Given the description of an element on the screen output the (x, y) to click on. 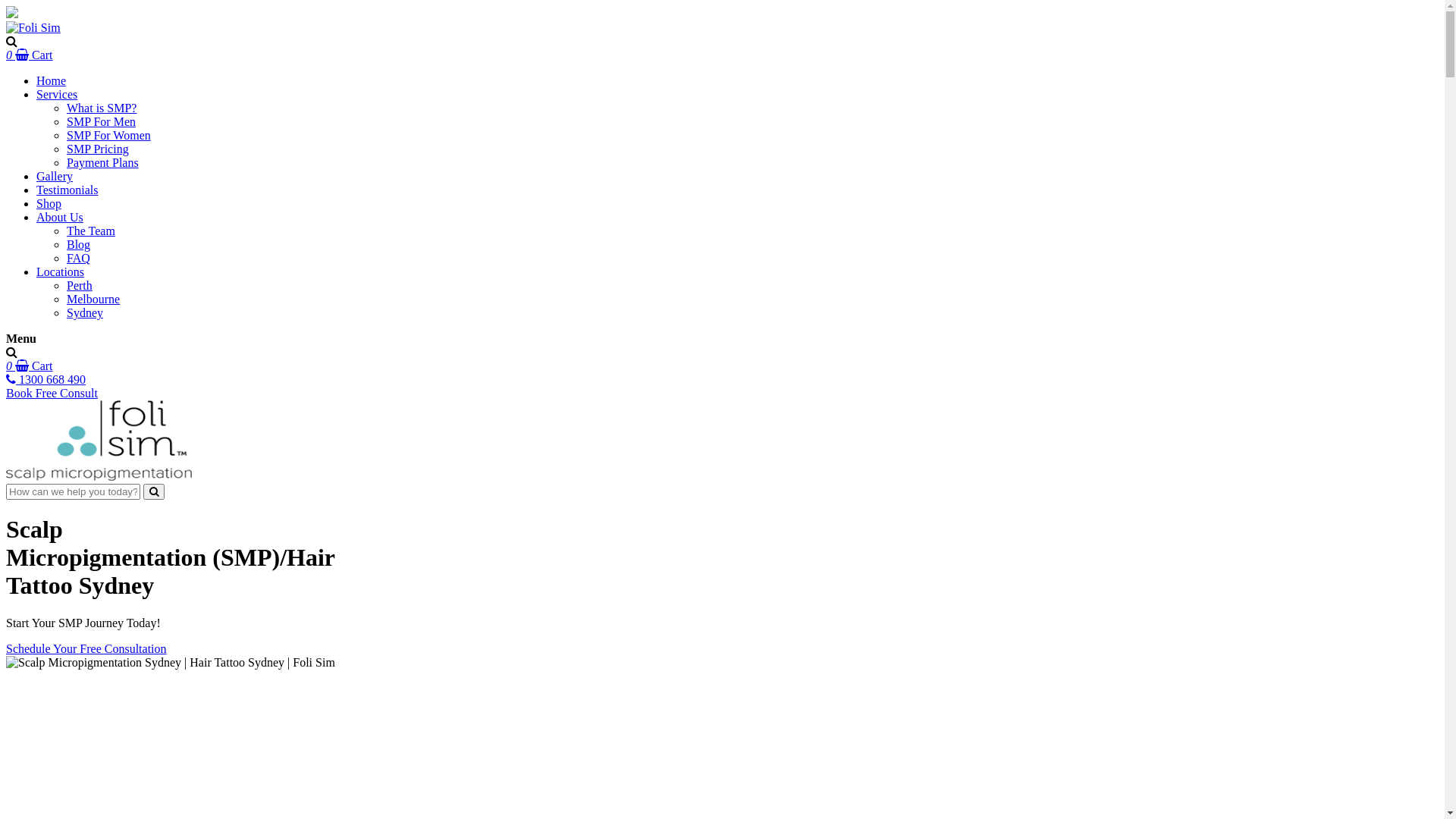
SMP For Men Element type: text (100, 121)
The Team Element type: text (90, 230)
Payment Plans Element type: text (102, 162)
About Us Element type: text (59, 216)
Schedule Your Free Consultation Element type: text (86, 648)
Perth Element type: text (79, 285)
Locations Element type: text (60, 271)
Testimonials Element type: text (67, 189)
Gallery Element type: text (54, 175)
Melbourne Element type: text (92, 298)
Sydney Element type: text (84, 312)
FAQ Element type: text (78, 257)
Home Element type: text (50, 80)
What is SMP? Element type: text (101, 107)
SMP For Women Element type: text (108, 134)
0 Cart Element type: text (29, 365)
Book Free Consult Element type: text (51, 392)
0 Cart Element type: text (29, 54)
1300 668 490 Element type: text (45, 379)
Shop Element type: text (48, 203)
Blog Element type: text (78, 244)
SMP Pricing Element type: text (97, 148)
Services Element type: text (56, 93)
